Given the description of an element on the screen output the (x, y) to click on. 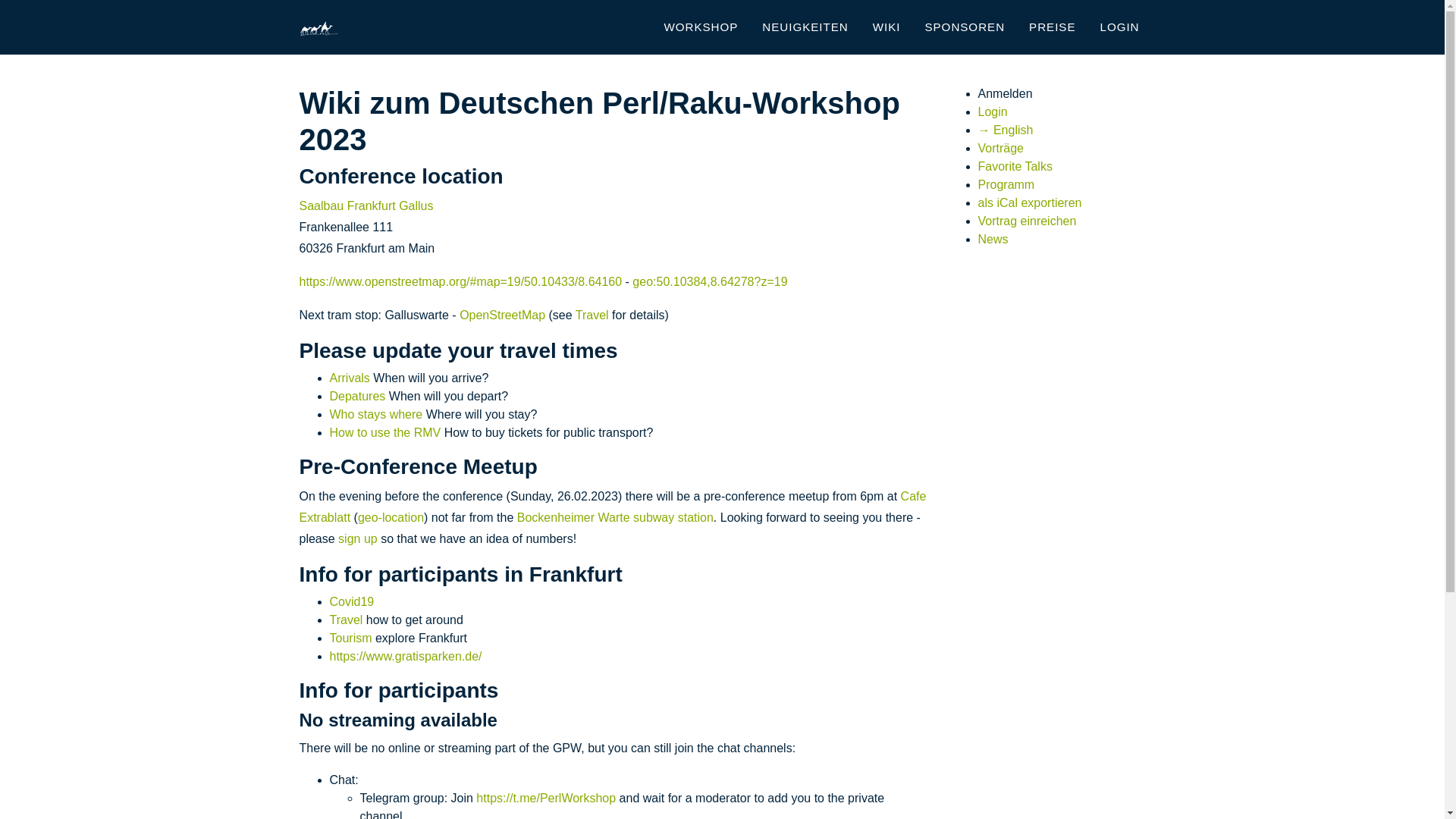
SPONSOREN (964, 27)
WIKI (886, 27)
OpenStreetMap (502, 314)
Vortrag einreichen (1027, 220)
PREISE (1052, 27)
WIKI (886, 27)
PREISE (1052, 27)
SPONSOREN (964, 27)
Who stays where (375, 413)
WORKSHOP (701, 27)
